Given the description of an element on the screen output the (x, y) to click on. 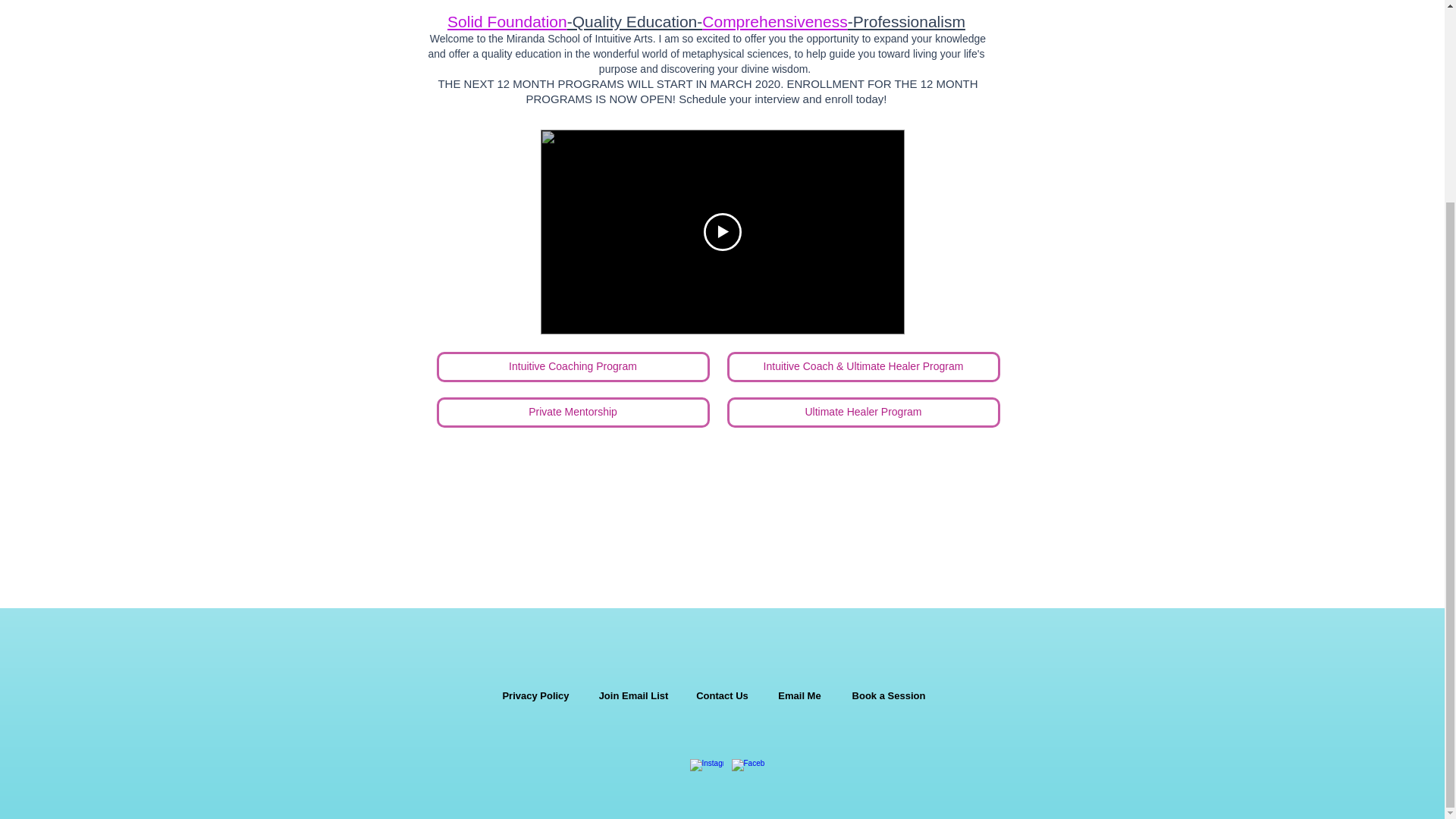
Email Me (799, 695)
Private Mentorship (573, 412)
Privacy Policy (535, 695)
Contact Us (722, 695)
Join Email List (633, 695)
Book a Session (889, 695)
Ultimate Healer Program (862, 412)
Intuitive Coaching Program (573, 367)
